Given the description of an element on the screen output the (x, y) to click on. 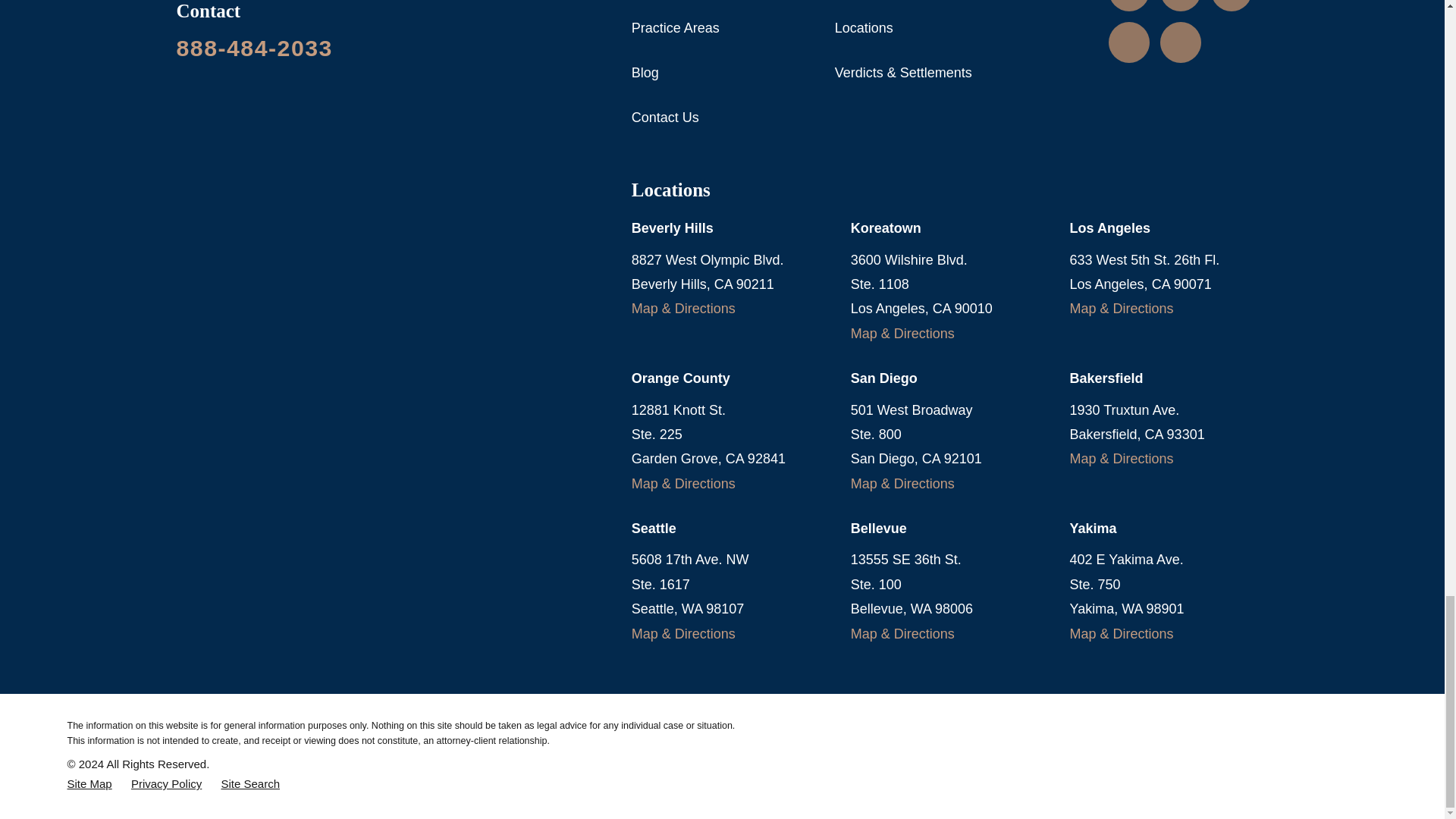
YouTube (1231, 0)
Instagram (1129, 0)
Facebook (1129, 41)
LinkedIn (1180, 0)
TikTok (1180, 41)
